Given the description of an element on the screen output the (x, y) to click on. 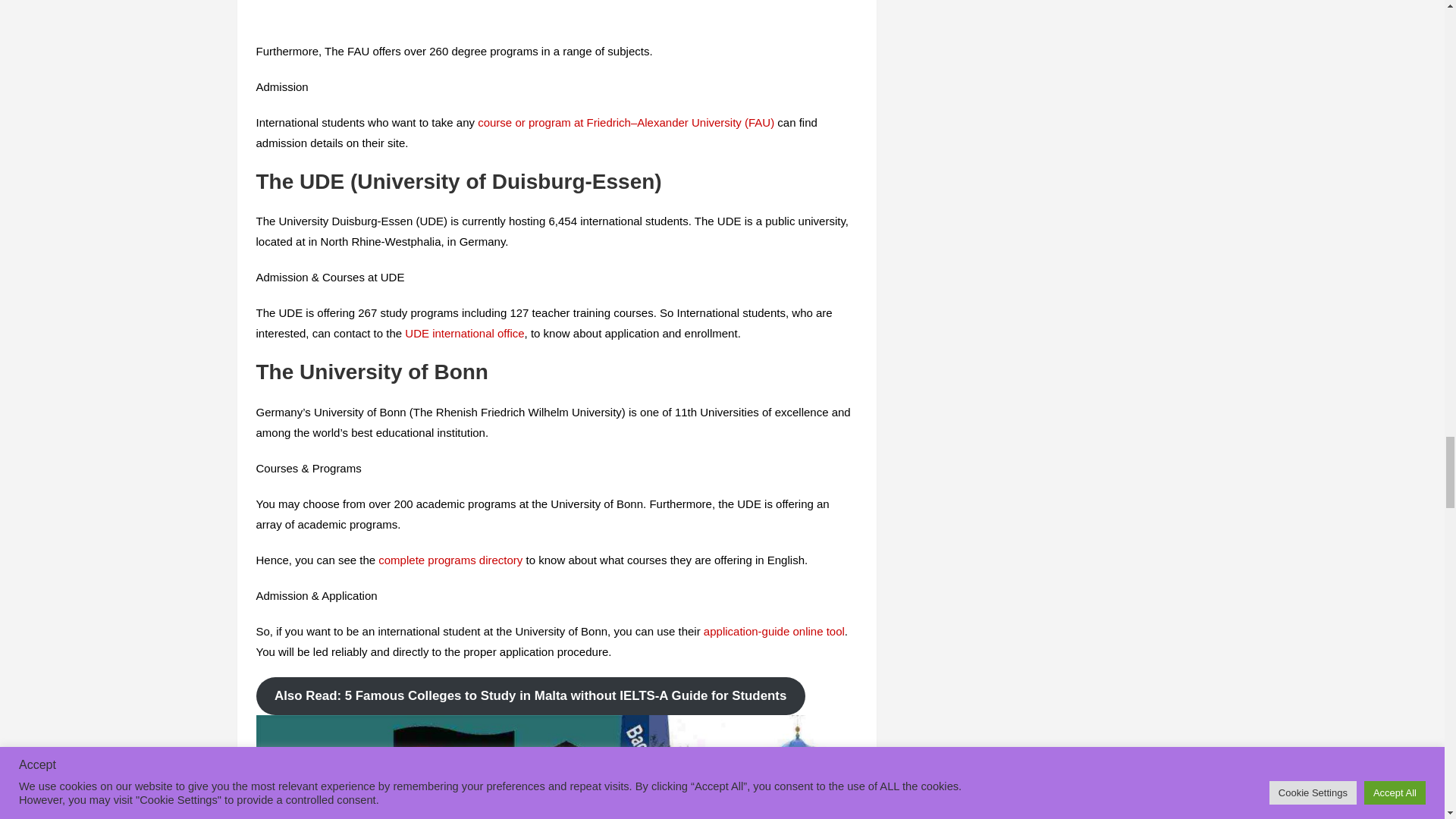
UDE international office (464, 332)
complete programs directory (450, 559)
application-guide online tool (773, 631)
